Given the description of an element on the screen output the (x, y) to click on. 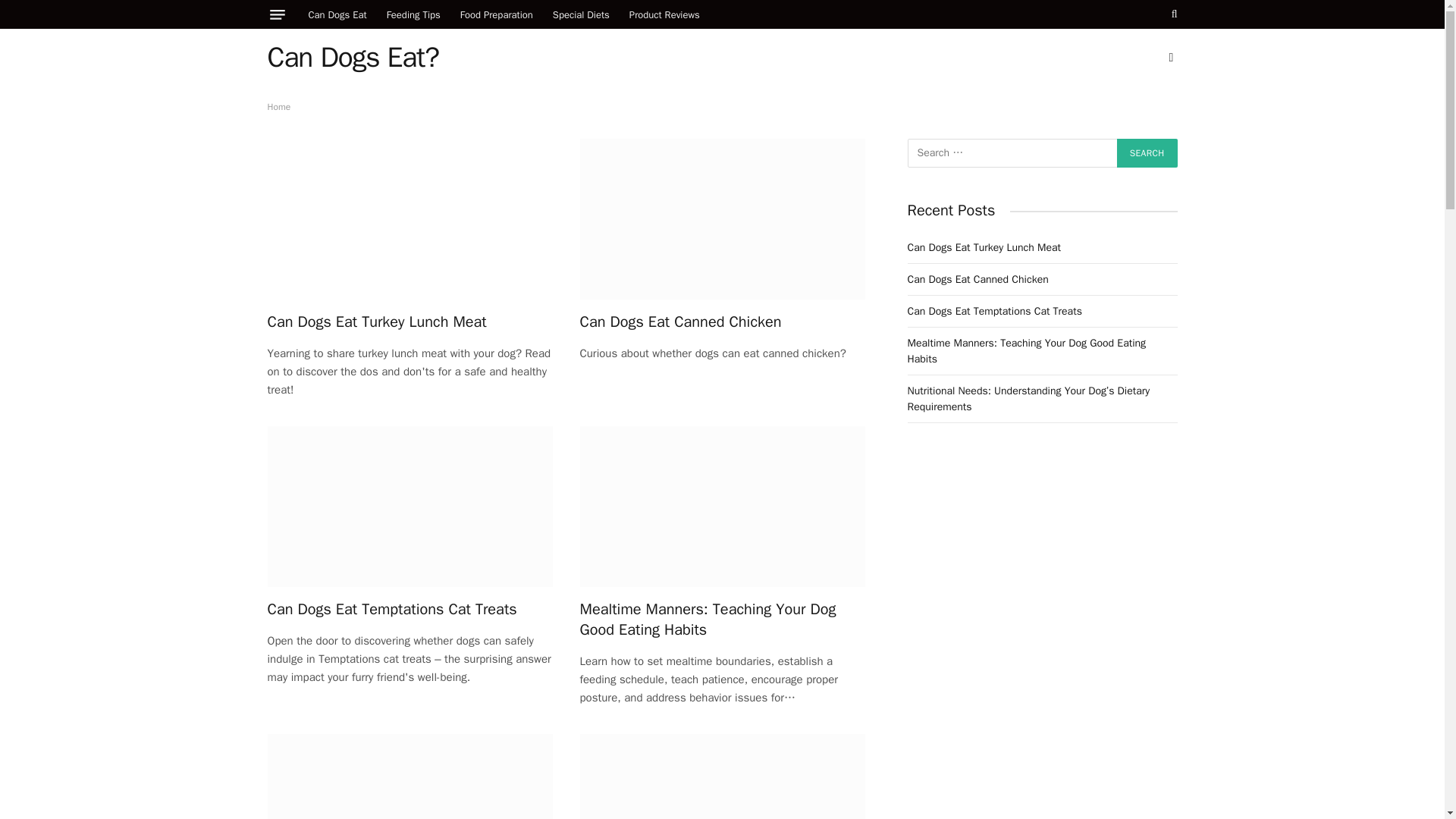
Can Dogs Eat Temptations Cat Treats (408, 506)
Can Dogs Eat Turkey Lunch Meat (408, 322)
Mealtime Manners: Teaching Your Dog Good Eating Habits (721, 618)
Can Dogs Eat Temptations Cat Treats (408, 608)
Can Dogs Eat? (352, 57)
Food Preparation (496, 14)
Can Dogs Eat Canned Chicken (721, 218)
Can Dogs Eat Canned Chicken (721, 322)
Mealtime Manners: Teaching Your Dog Good Eating Habits (721, 506)
Feeding Tips (413, 14)
Special Diets (581, 14)
Switch to Dark Design - easier on eyes. (1168, 57)
Search (1146, 152)
Product Reviews (665, 14)
Search (1146, 152)
